Given the description of an element on the screen output the (x, y) to click on. 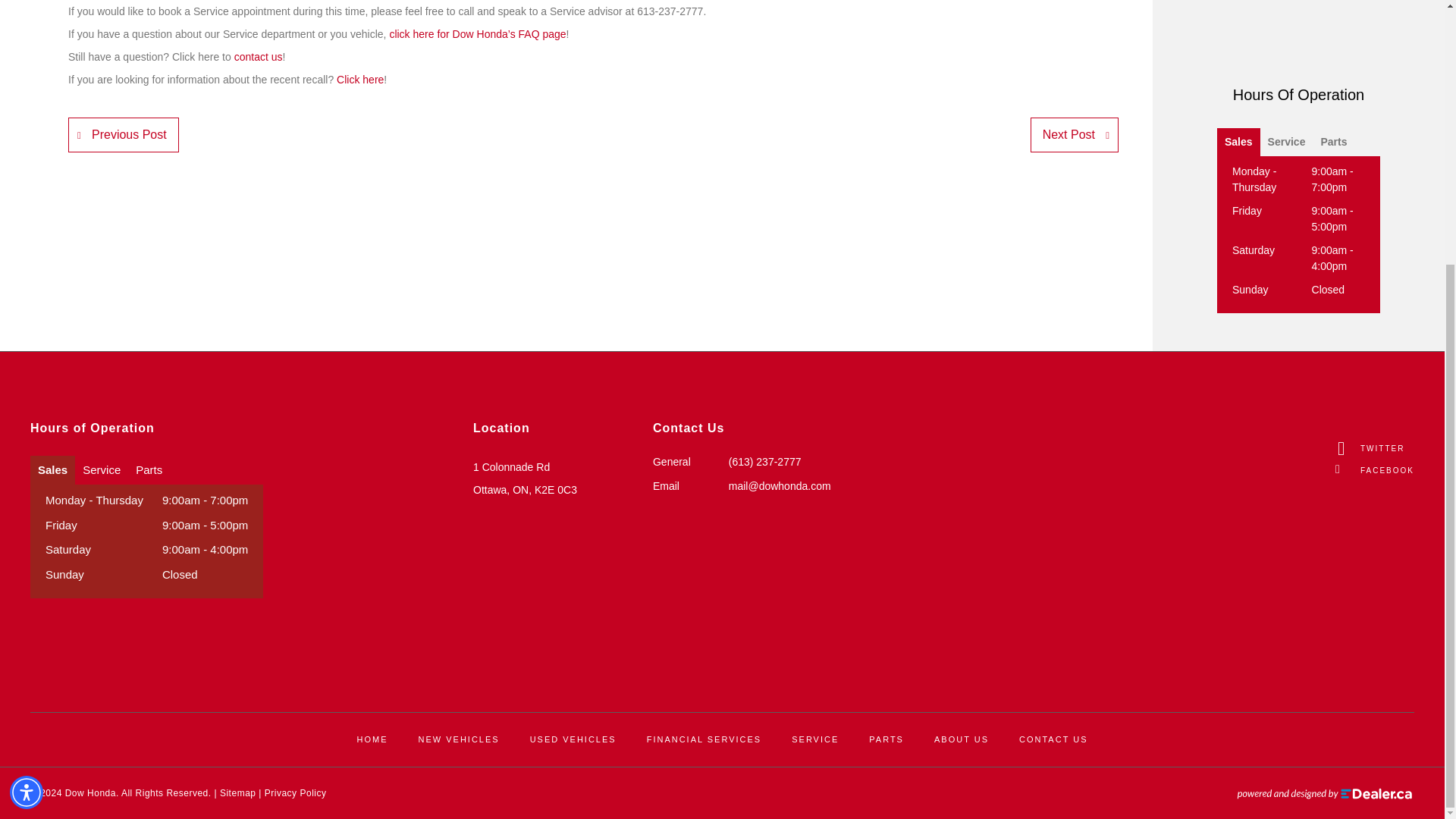
Contact Dow Honda (258, 56)
Accessibility Menu (26, 410)
Expanded Airbag Recall (360, 79)
Powered and Designed By Edealer (1324, 793)
Dow Honda FAQ (477, 33)
